Given the description of an element on the screen output the (x, y) to click on. 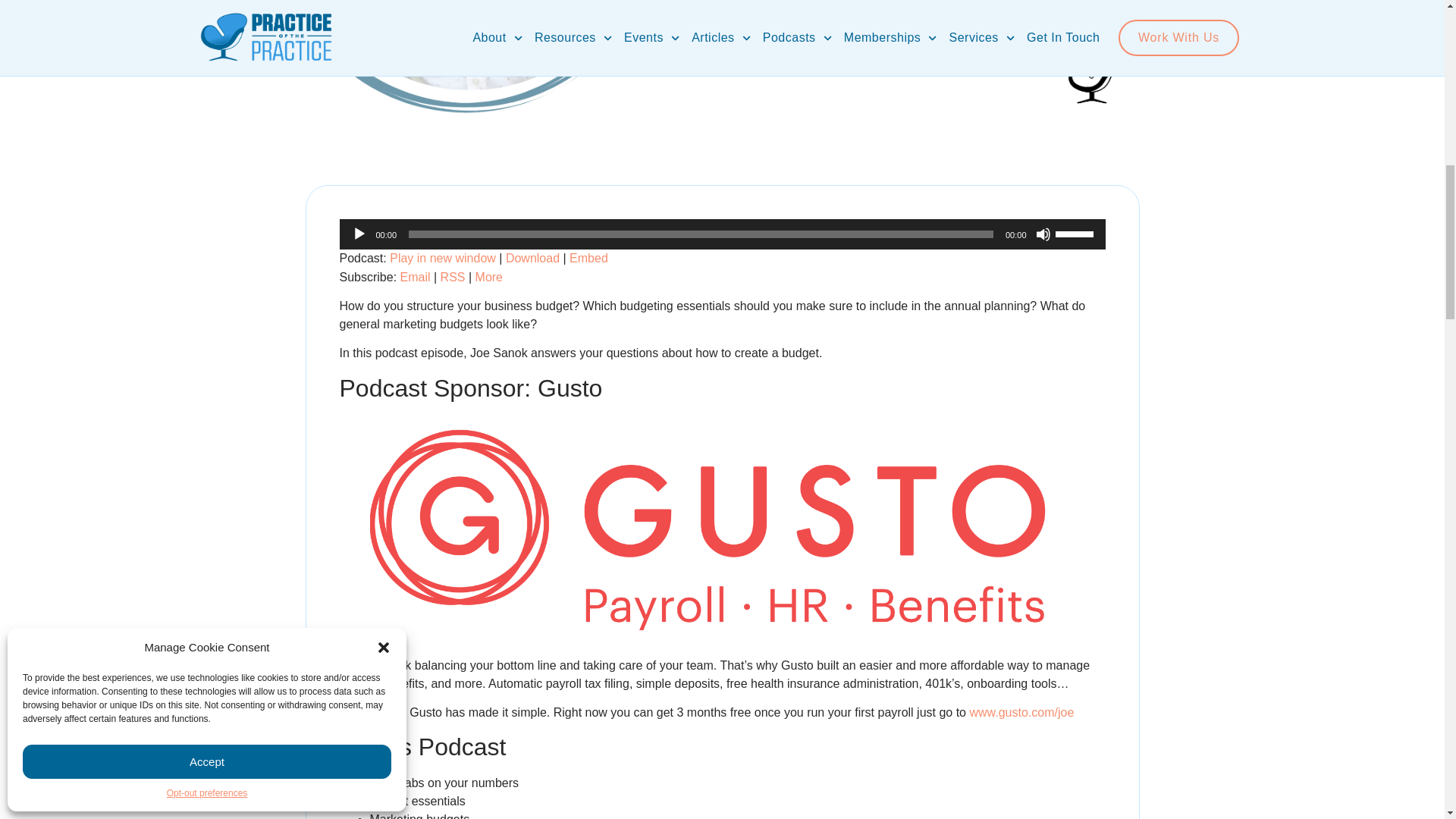
Mute (1043, 233)
Embed (588, 257)
Subscribe via RSS (453, 277)
Subscribe by Email (415, 277)
Play in new window (443, 257)
More (489, 277)
Play (359, 233)
Download (532, 257)
